Given the description of an element on the screen output the (x, y) to click on. 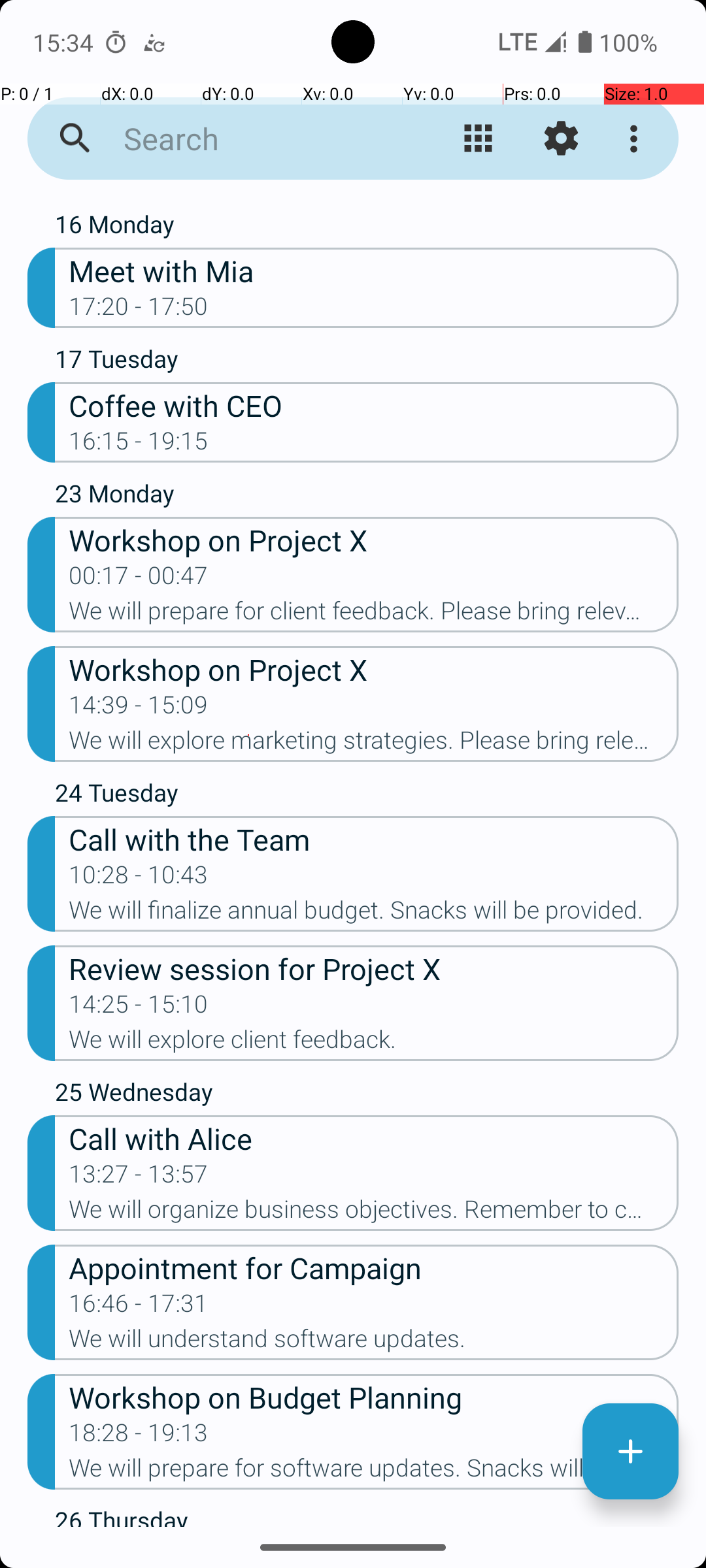
25 Wednesday Element type: android.widget.TextView (366, 1094)
26 Thursday Element type: android.widget.TextView (366, 1514)
Meet with Mia Element type: android.widget.TextView (373, 269)
17:20 - 17:50 Element type: android.widget.TextView (137, 309)
Coffee with CEO Element type: android.widget.TextView (373, 404)
16:15 - 19:15 Element type: android.widget.TextView (137, 444)
00:17 - 00:47 Element type: android.widget.TextView (137, 579)
We will prepare for client feedback. Please bring relevant documents. Element type: android.widget.TextView (373, 614)
14:39 - 15:09 Element type: android.widget.TextView (137, 708)
We will explore marketing strategies. Please bring relevant documents. Element type: android.widget.TextView (373, 743)
10:28 - 10:43 Element type: android.widget.TextView (137, 878)
We will finalize annual budget. Snacks will be provided. Element type: android.widget.TextView (373, 913)
14:25 - 15:10 Element type: android.widget.TextView (137, 1007)
We will explore client feedback. Element type: android.widget.TextView (373, 1043)
13:27 - 13:57 Element type: android.widget.TextView (137, 1177)
We will organize business objectives. Remember to confirm attendance. Element type: android.widget.TextView (373, 1212)
16:46 - 17:31 Element type: android.widget.TextView (137, 1306)
We will understand software updates. Element type: android.widget.TextView (373, 1342)
18:28 - 19:13 Element type: android.widget.TextView (137, 1436)
We will prepare for software updates. Snacks will be provided. Element type: android.widget.TextView (373, 1471)
